Given the description of an element on the screen output the (x, y) to click on. 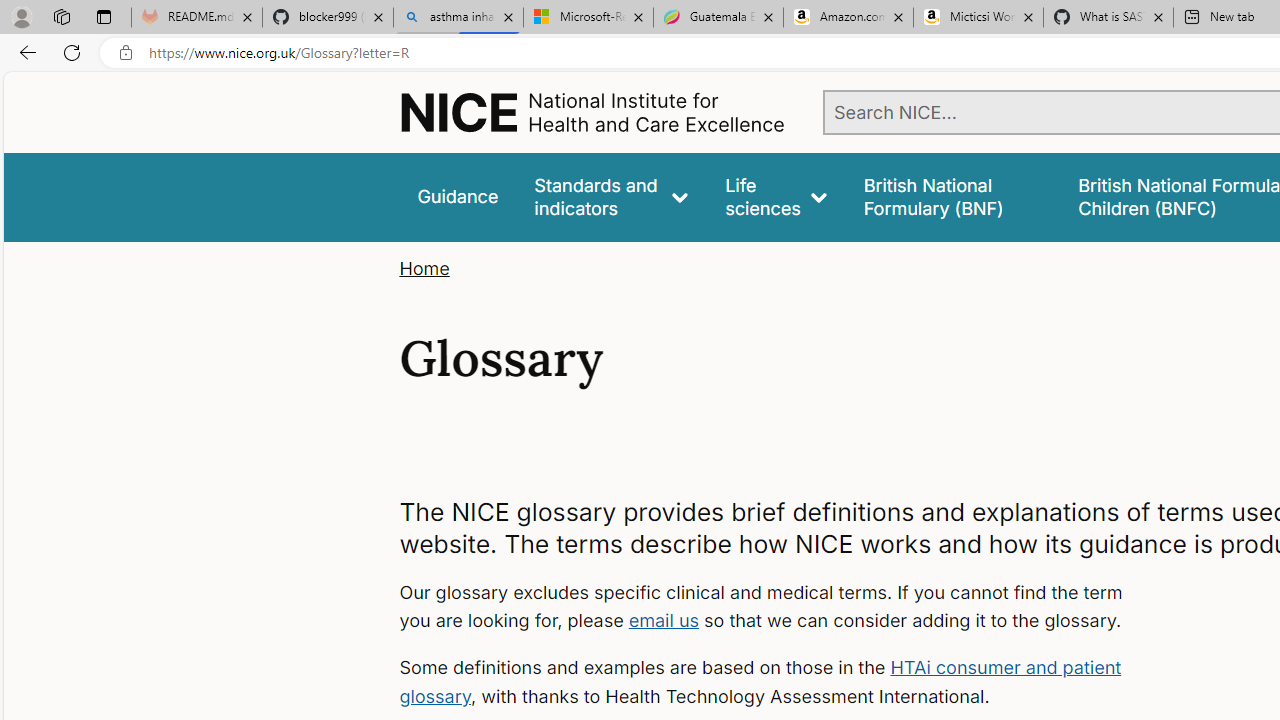
Life sciences (776, 196)
HTAi consumer and patient glossary (760, 681)
Workspaces (61, 16)
Home (424, 268)
Home (424, 268)
asthma inhaler - Search (458, 17)
Refresh (72, 52)
